Given the description of an element on the screen output the (x, y) to click on. 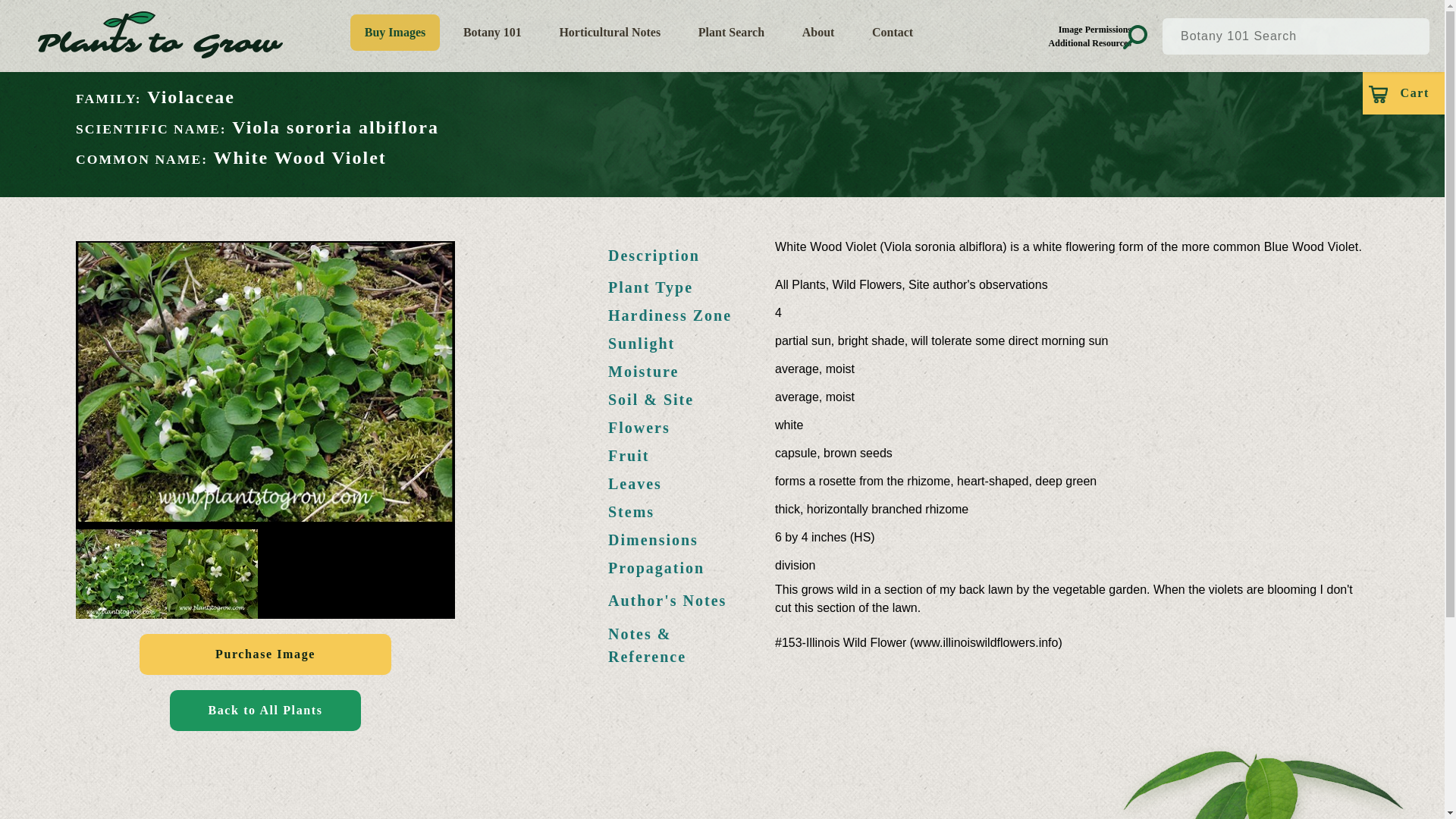
Paul S Drobot (264, 382)
About (817, 32)
Contact (892, 32)
Botany 101 (491, 32)
Horticultural Notes (609, 32)
Buy Images (395, 32)
Image Permissions (1089, 29)
Plant Search (731, 32)
Additional Resources (1089, 42)
Purchase Image (265, 653)
Back to All Plants (264, 710)
